Given the description of an element on the screen output the (x, y) to click on. 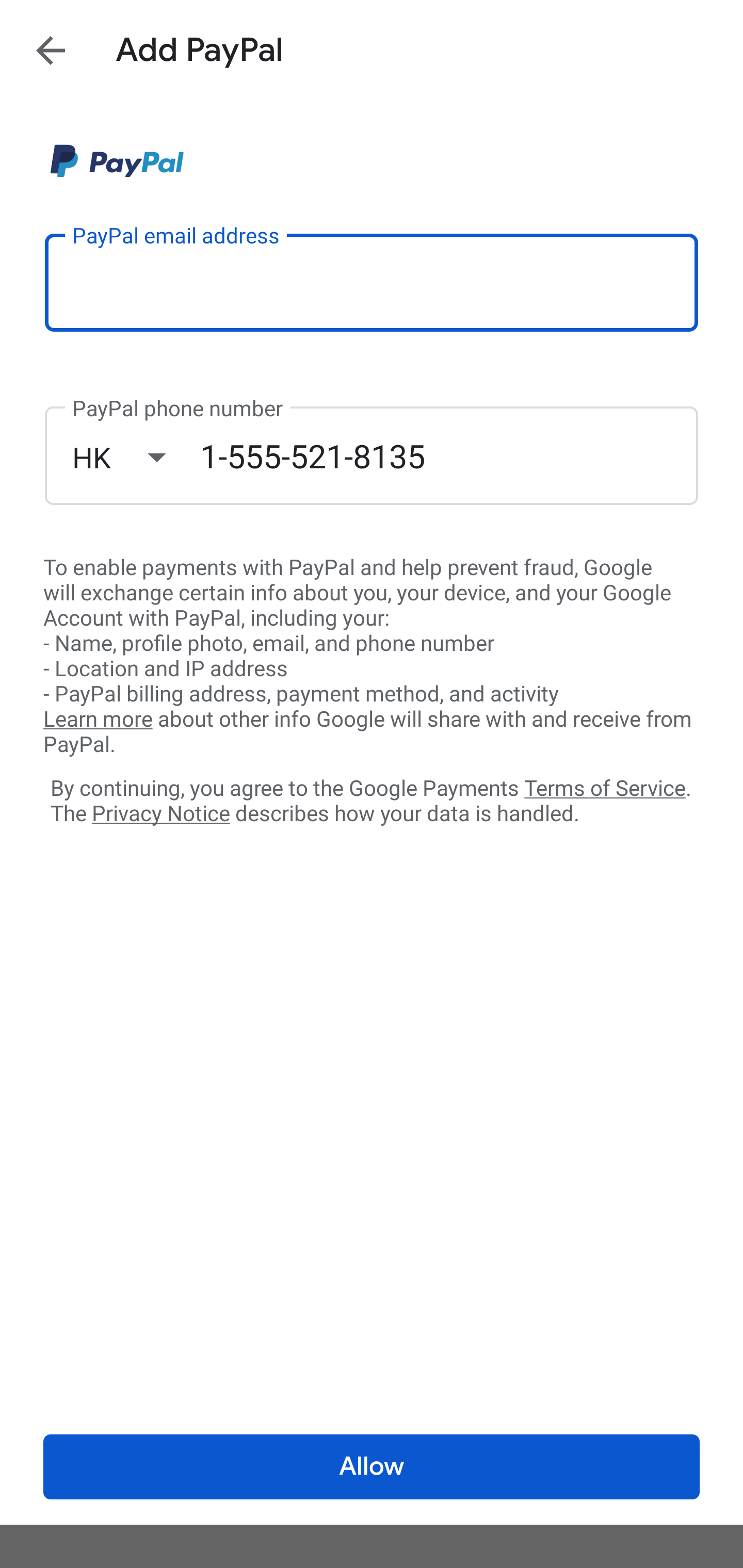
Navigate up (50, 50)
PayPal email address (371, 282)
HK (135, 456)
Learn more (97, 719)
Terms of Service (604, 787)
Privacy Notice (160, 814)
Allow (371, 1466)
